Given the description of an element on the screen output the (x, y) to click on. 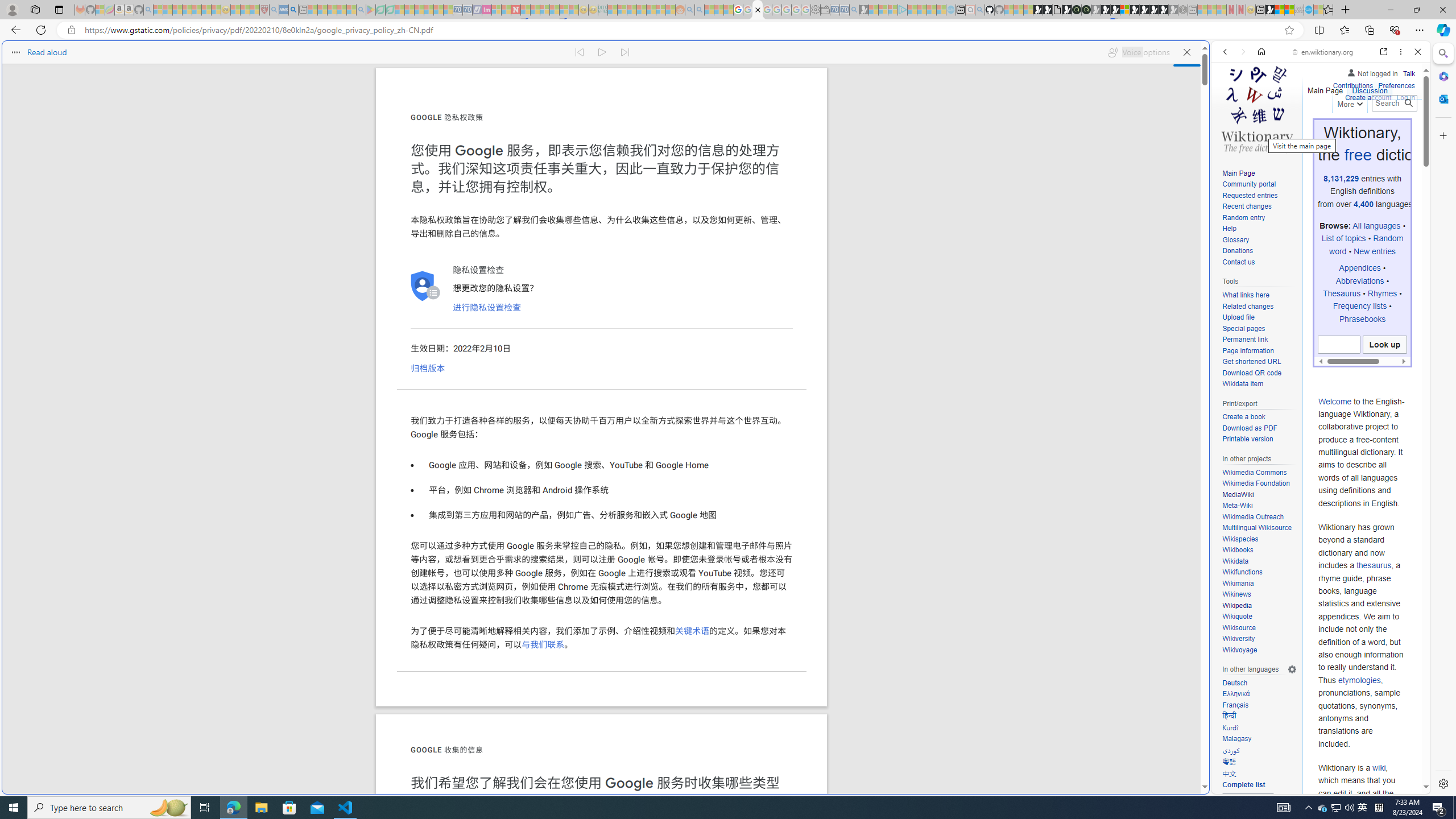
Close split screen (1208, 57)
Create a book (1243, 416)
Voice options (1138, 52)
Wikidata (1259, 561)
Wikinews (1259, 594)
MediaWiki (1259, 494)
Wikiversity (1259, 639)
Deutsch (1234, 682)
